Given the description of an element on the screen output the (x, y) to click on. 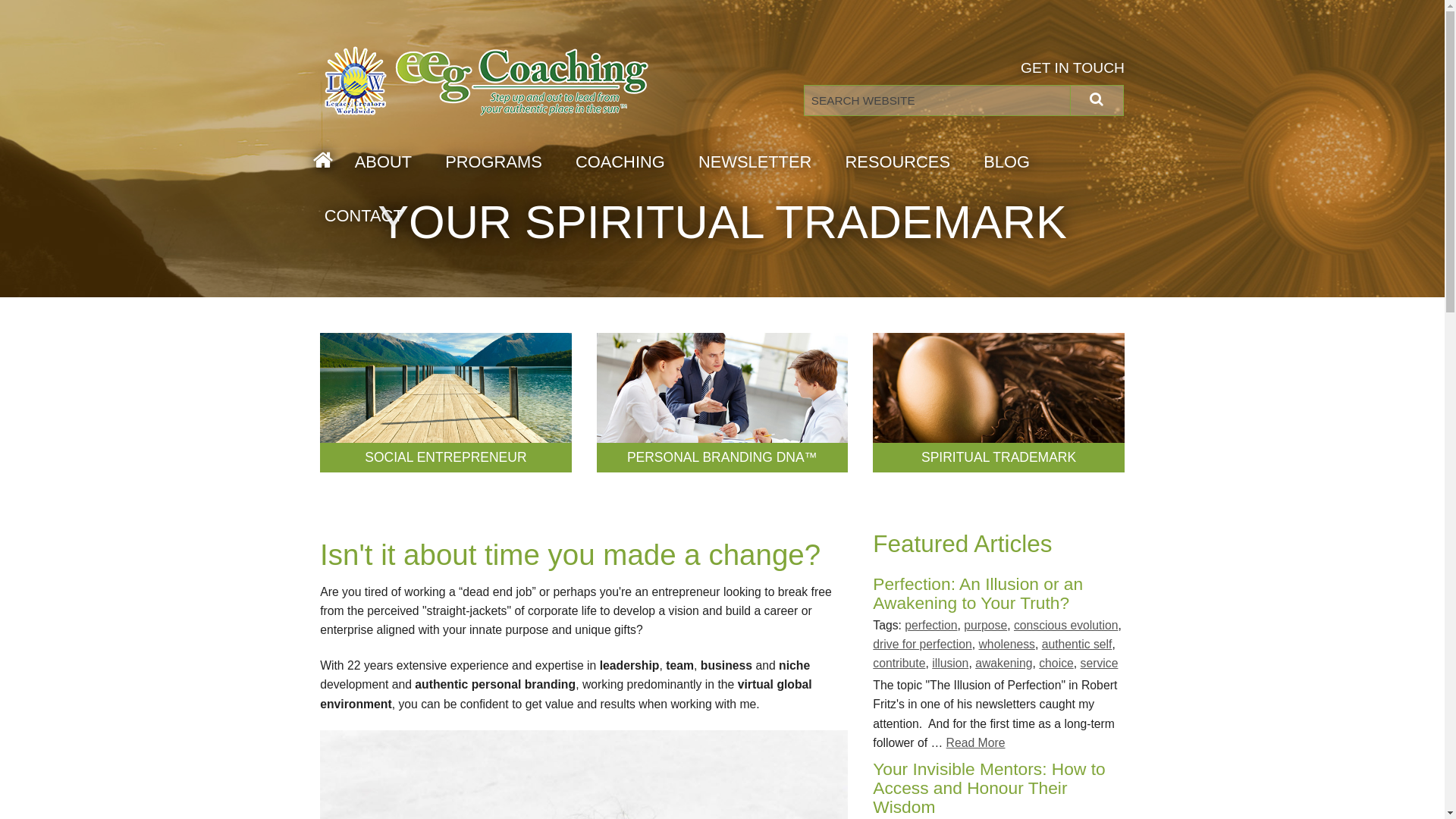
SPIRITUAL TRADEMARK Element type: text (998, 457)
wholeness Element type: text (1006, 643)
perfection Element type: text (930, 624)
FROM IDEA TO GLOBAL IMPACT Element type: text (619, 273)
CAREER TRANSITION - SOCIAL ENTREPRENEUR Element type: text (619, 198)
YOUR SPIRITUAL TRADEMARK Element type: text (493, 236)
ABOUT Element type: text (383, 161)
service Element type: text (1099, 662)
TESTIMONIALS Element type: text (897, 310)
Perfection: An Illusion or an Awakening to Your Truth? Element type: text (977, 592)
FAQ Element type: text (897, 236)
SOCIAL ENTREPRENEUR Element type: text (445, 457)
PROGRAMS Element type: text (493, 161)
E.E.G. COACHING PTY LTD Element type: text (383, 198)
contribute Element type: text (898, 662)
conscious evolution Element type: text (1065, 624)
RESOURCES Element type: text (897, 161)
authentic self Element type: text (1076, 643)
purpose Element type: text (985, 624)
CONTACT Element type: text (355, 215)
ELISABETH GORTSCHACHER Element type: text (383, 236)
awakening Element type: text (1003, 662)
illusion Element type: text (949, 662)
WORLD LEADERSHIP DAY Element type: text (383, 273)
MEDIA Element type: text (897, 273)
MENTOR COACHING FOR ICF CREDENTIALING Element type: text (619, 310)
NEWS Element type: text (897, 198)
LIVE YOUR HIGHEST VISION Element type: text (619, 236)
NEWSLETTER Element type: text (754, 161)
GET IN TOUCH Element type: text (1072, 68)
Read More Element type: text (975, 742)
choice Element type: text (1055, 662)
drive for perfection Element type: text (921, 643)
BLOG Element type: text (1006, 161)
COACHING Element type: text (619, 161)
